Given the description of an element on the screen output the (x, y) to click on. 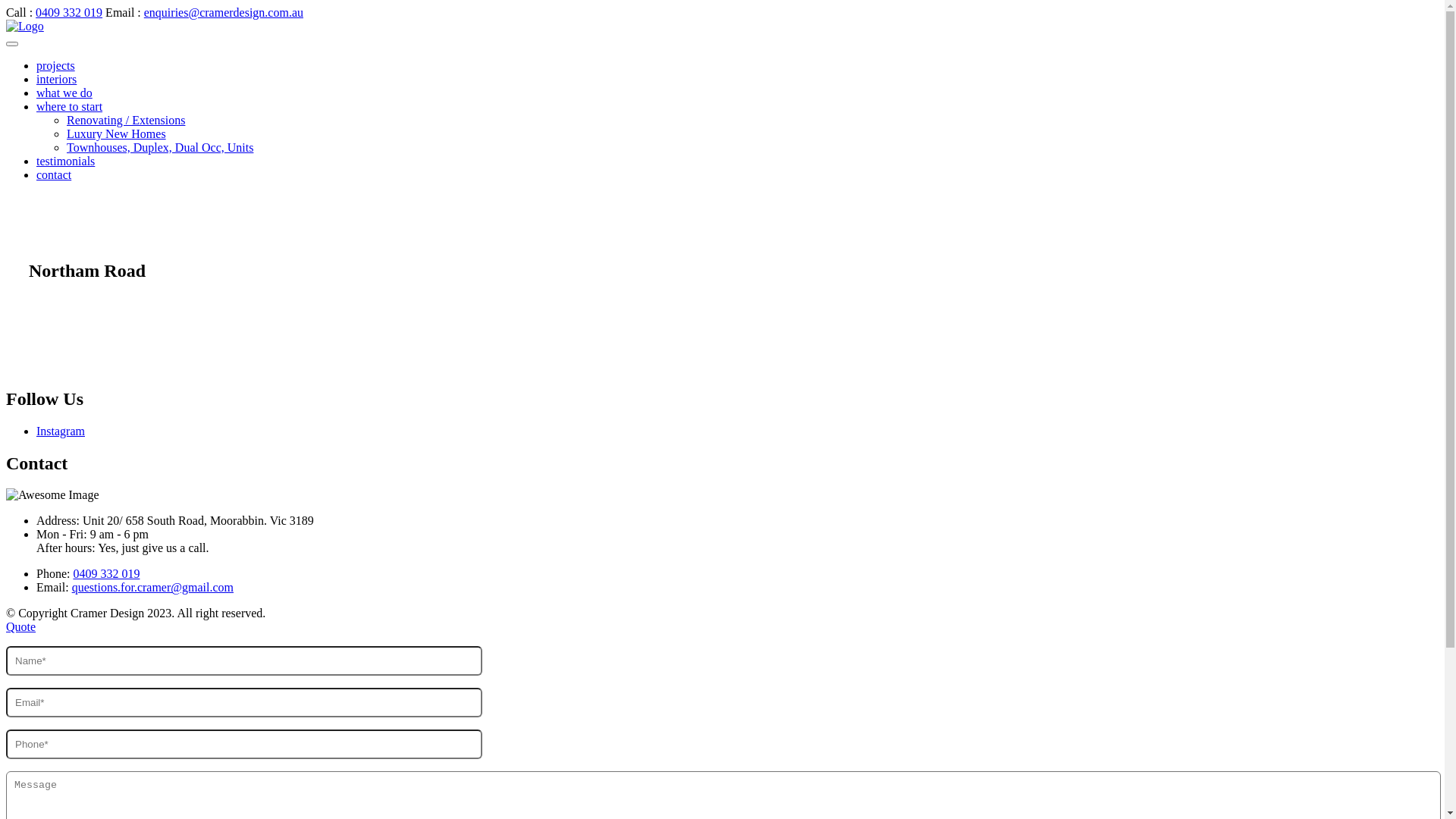
Instagram Element type: text (60, 430)
what we do Element type: text (64, 92)
Renovating / Extensions Element type: text (125, 119)
Logo Element type: hover (77, 238)
Logo Element type: hover (24, 25)
testimonials Element type: text (65, 160)
Luxury New Homes Element type: text (116, 133)
interiors Element type: text (56, 78)
enquiries@cramerdesign.com.au Element type: text (223, 12)
contact Element type: text (53, 174)
projects Element type: text (55, 65)
where to start Element type: text (69, 106)
Quote Element type: text (20, 626)
0409 332 019 Element type: text (68, 12)
Townhouses, Duplex, Dual Occ, Units Element type: text (159, 147)
questions.for.cramer@gmail.com Element type: text (152, 586)
0409 332 019 Element type: text (105, 573)
